Given the description of an element on the screen output the (x, y) to click on. 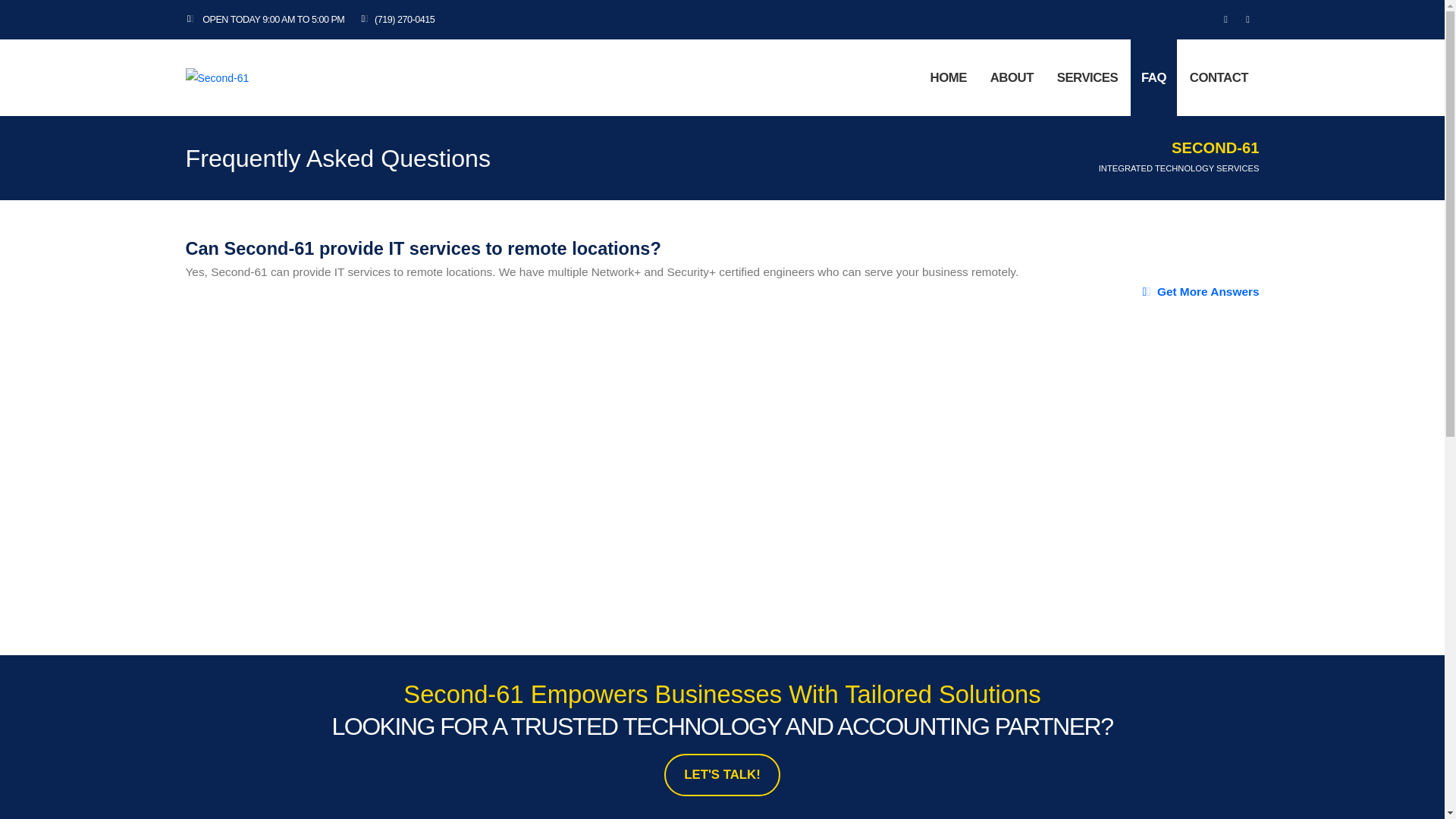
SERVICES (1086, 77)
Linkedin (1248, 19)
OPEN TODAY 9:00 AM TO 5:00 PM (268, 19)
LET'S TALK! (721, 774)
Facebook (1225, 19)
CONTACT (1218, 77)
Get More Answers (1200, 291)
